Given the description of an element on the screen output the (x, y) to click on. 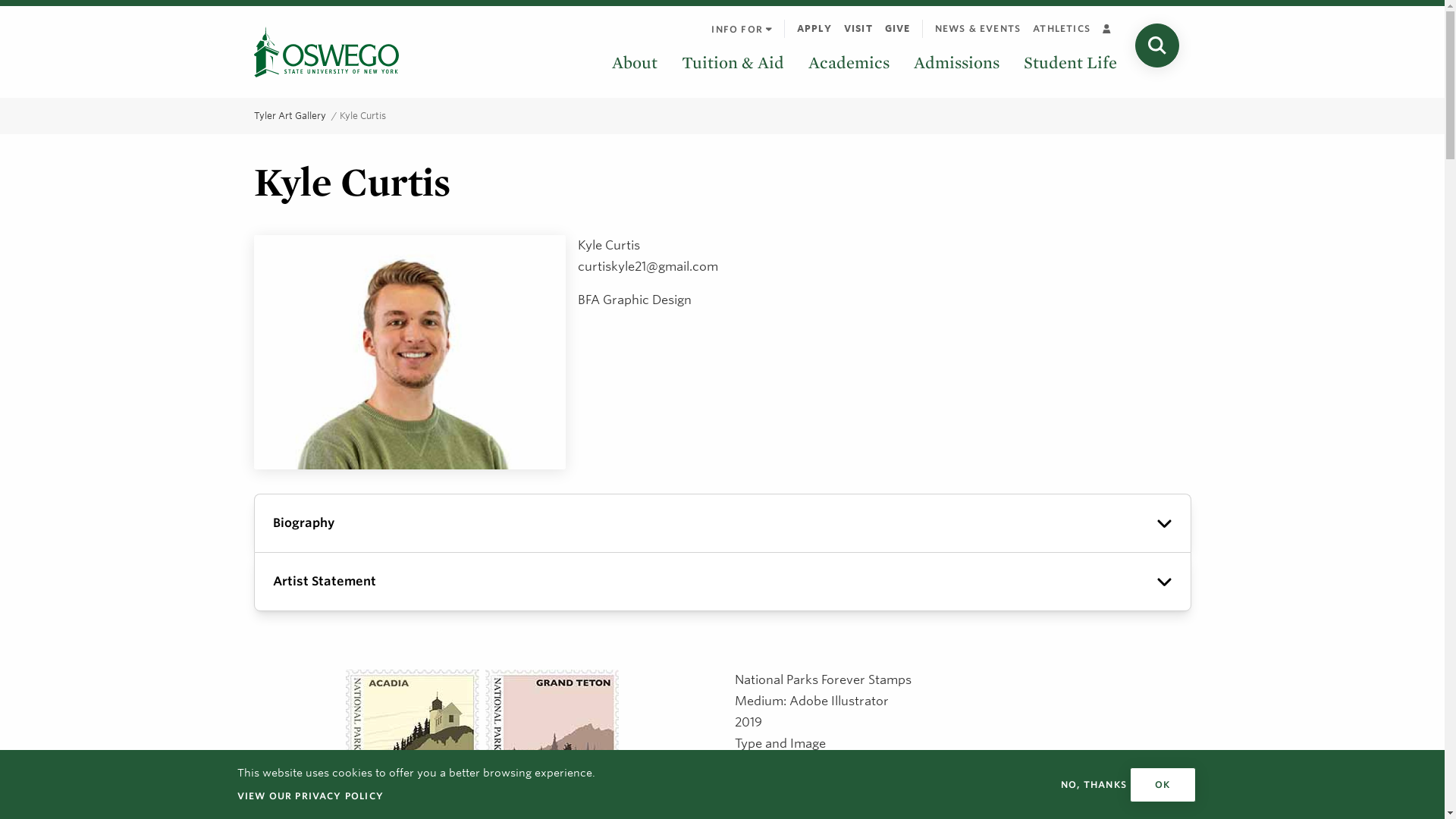
ATHLETICS (1061, 28)
APPLY (814, 28)
VIEW OUR PRIVACY POLICY (309, 795)
INFO FOR (740, 29)
About (633, 62)
VISIT (858, 28)
OK (1162, 784)
NO, THANKS (1093, 784)
GIVE (898, 28)
